Given the description of an element on the screen output the (x, y) to click on. 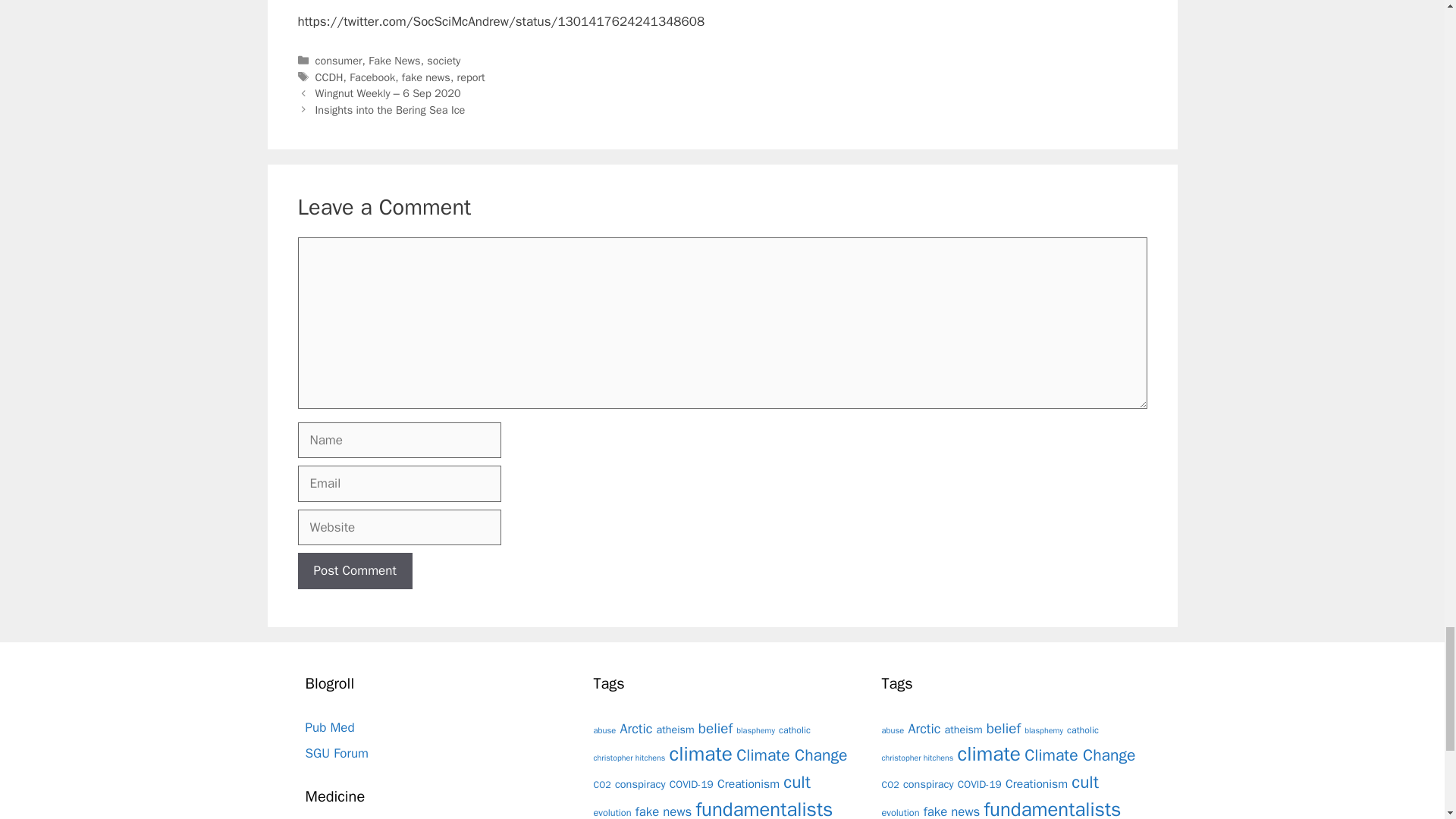
Post Comment (354, 570)
Form for the Skeptics Guide to the Universe (336, 753)
